Given the description of an element on the screen output the (x, y) to click on. 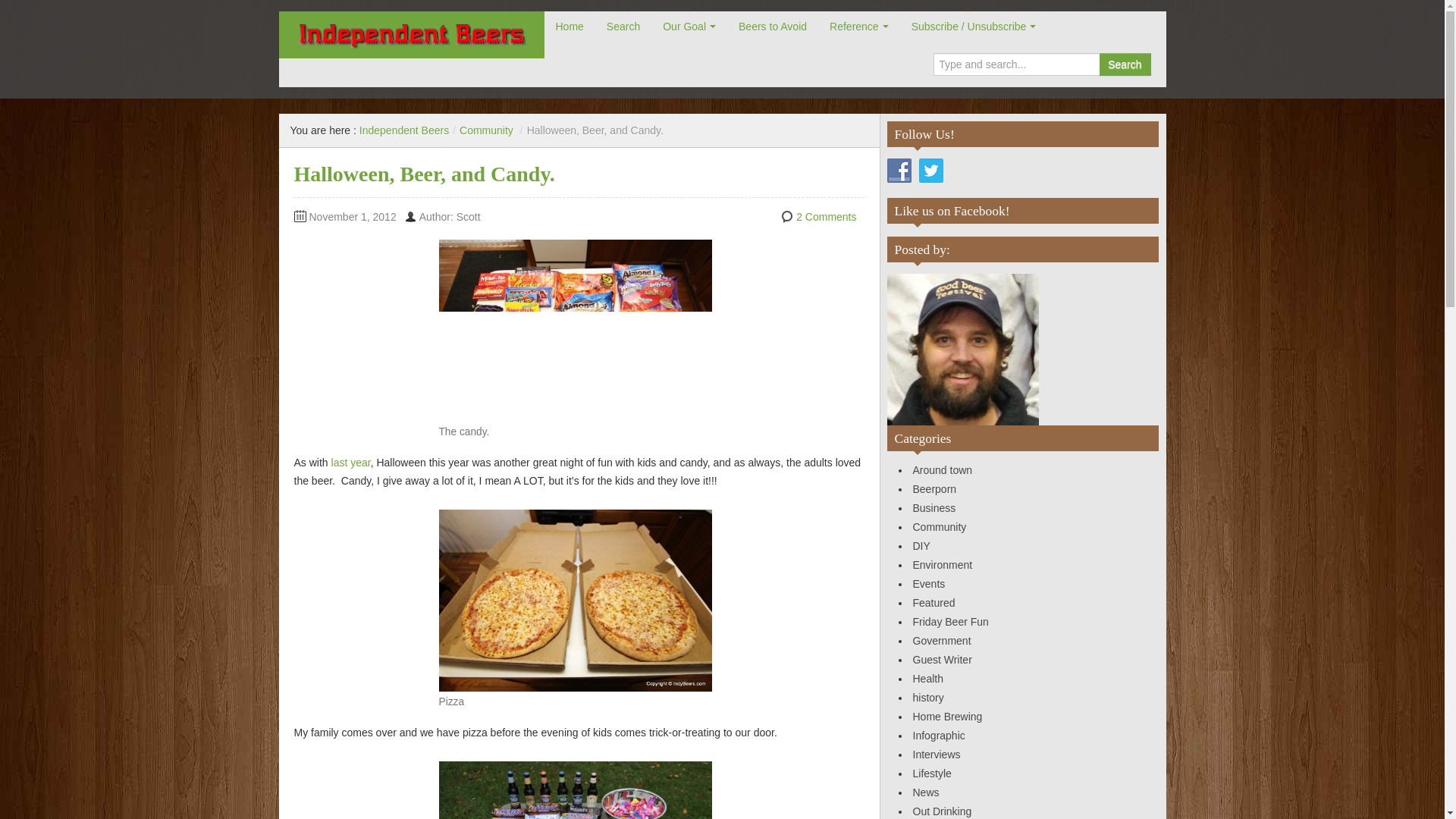
last year (351, 462)
Independent Beers (411, 34)
Home (569, 26)
Search (1124, 64)
Halloween, Beer, and Candy. (351, 462)
Community (486, 130)
Beerporn (934, 489)
Independent Beers (403, 130)
DIY (921, 545)
The candy. (574, 329)
Reference (858, 26)
2 Comments (826, 216)
Business (934, 508)
Search (622, 26)
Beers to Avoid (772, 26)
